Given the description of an element on the screen output the (x, y) to click on. 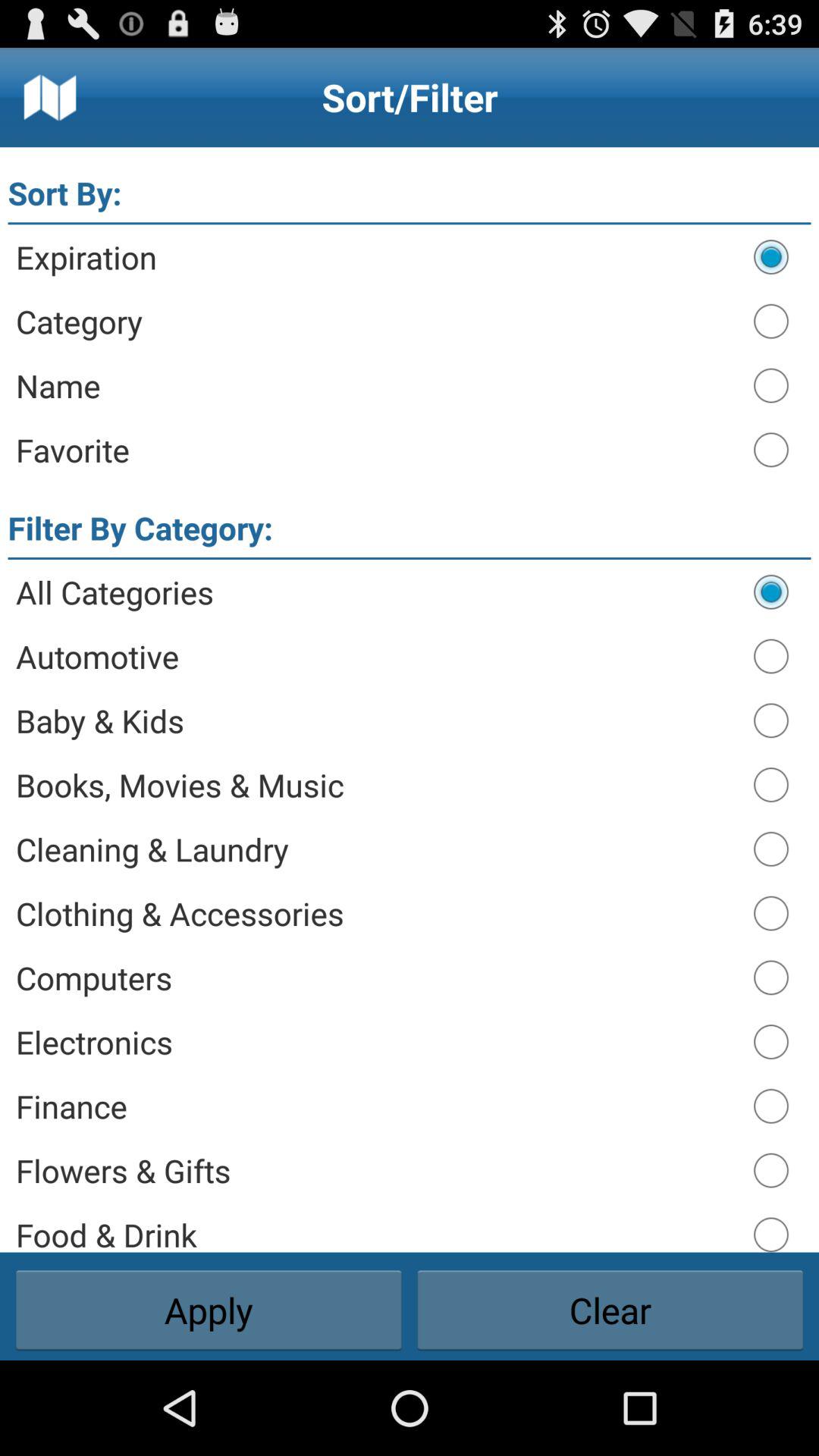
launch the icon above all categories app (409, 558)
